Given the description of an element on the screen output the (x, y) to click on. 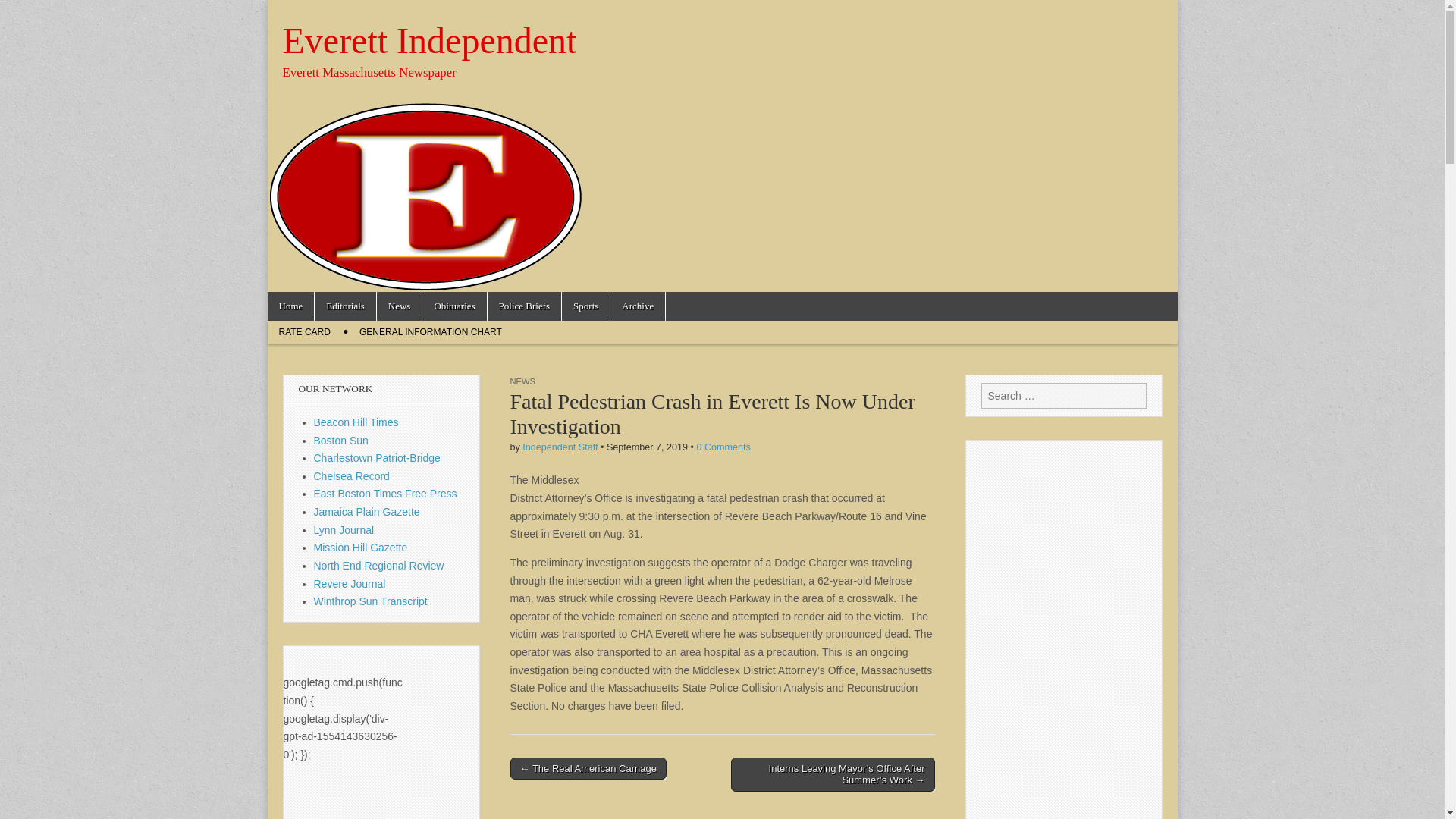
Posts by Independent Staff (559, 447)
Jamaica Plain Gazette (367, 511)
NEWS (522, 380)
0 Comments (722, 447)
Everett Independent (429, 40)
Chelsea Record (352, 476)
Everett Independent (429, 40)
GENERAL INFORMATION CHART (430, 332)
Archive (637, 306)
Boston Sun (341, 440)
Police Briefs (524, 306)
East Boston Times Free Press (385, 493)
Sports (586, 306)
North End Regional Review (379, 565)
